Given the description of an element on the screen output the (x, y) to click on. 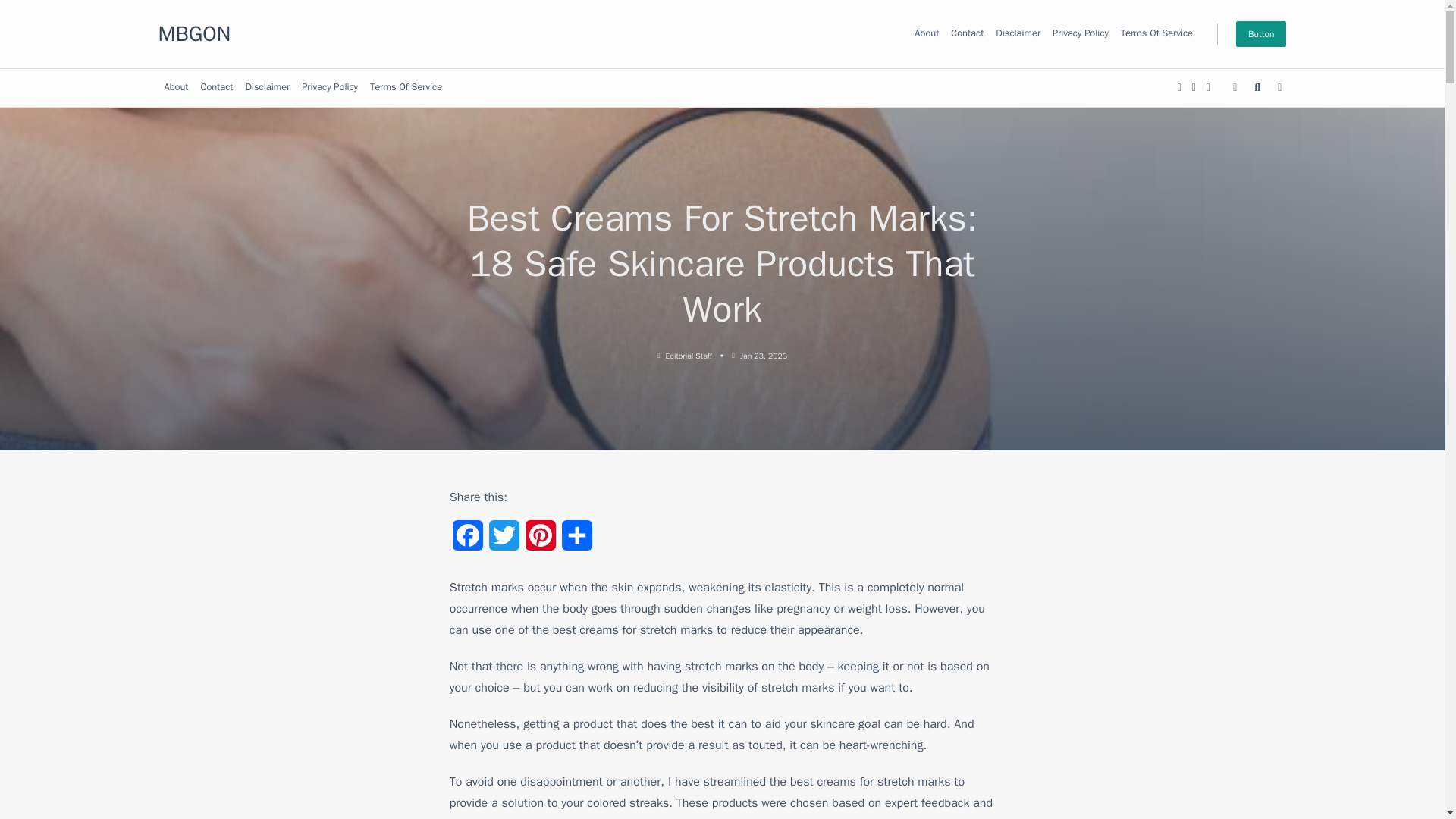
About (926, 33)
Button (1261, 33)
Privacy Policy (1080, 33)
Contact (215, 87)
Disclaimer (1018, 33)
About (175, 87)
Disclaimer (266, 87)
Contact (967, 33)
Terms Of Service (1156, 33)
MBGON (193, 33)
